Given the description of an element on the screen output the (x, y) to click on. 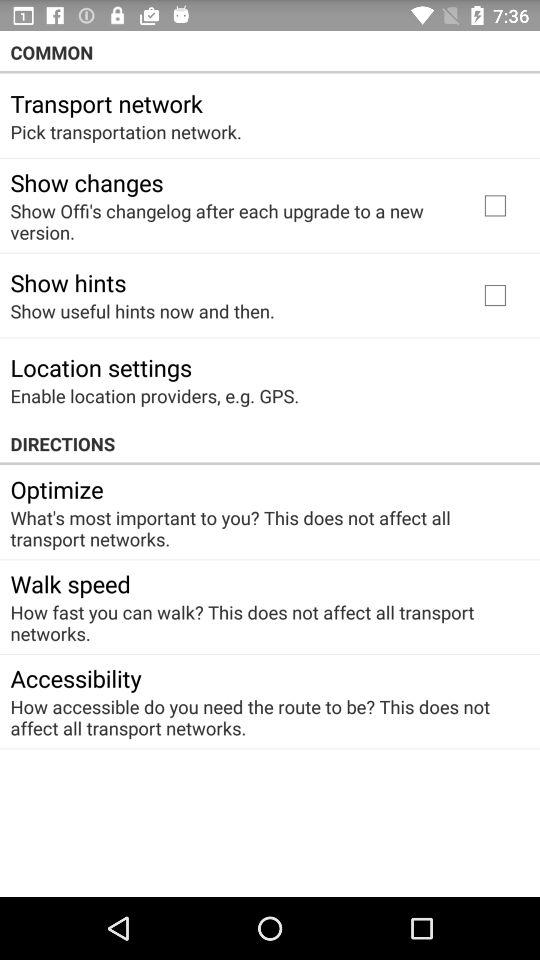
choose the app at the bottom (263, 717)
